Given the description of an element on the screen output the (x, y) to click on. 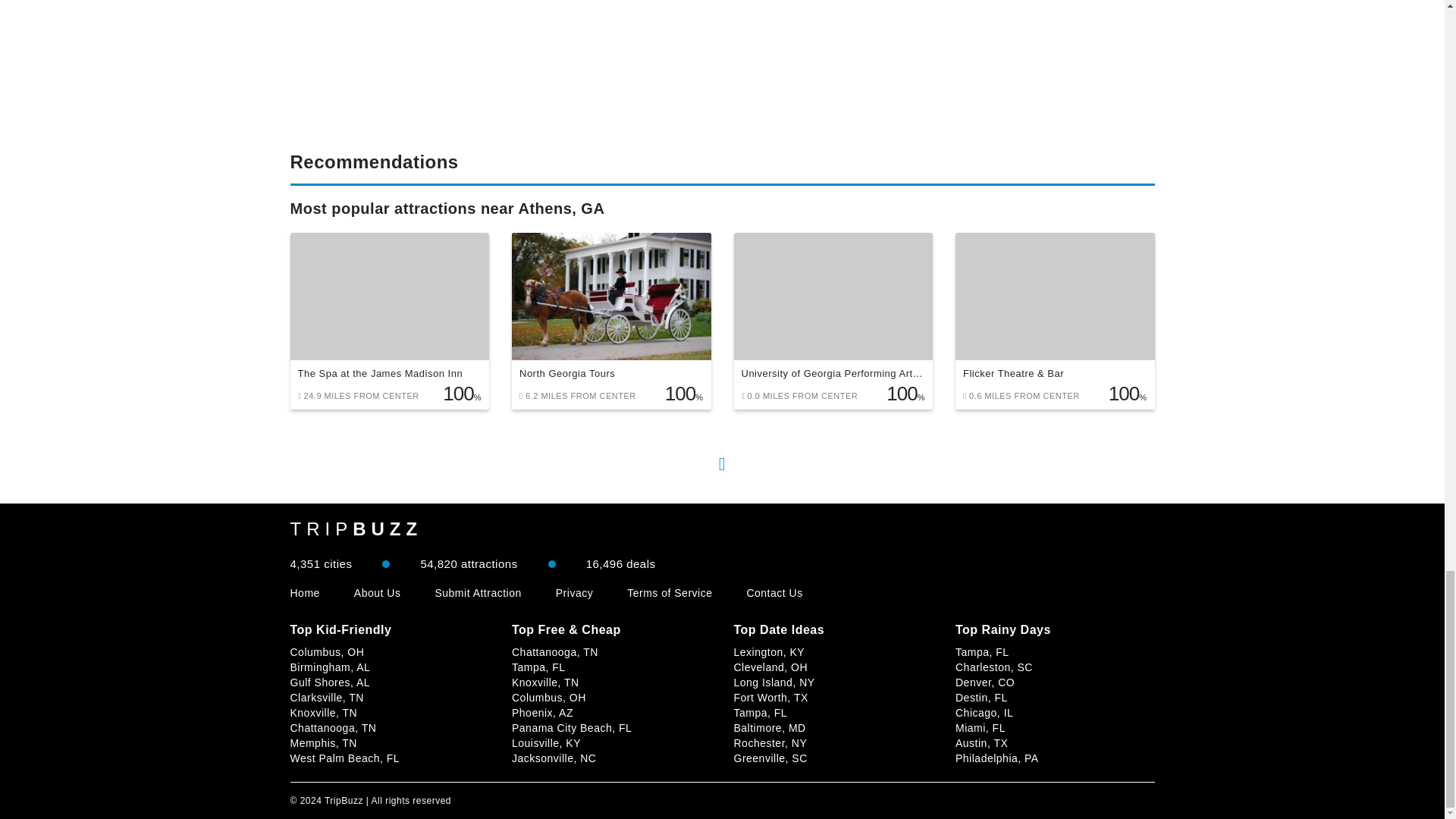
About (377, 592)
Terms of Service (669, 592)
Privacy (574, 592)
